Given the description of an element on the screen output the (x, y) to click on. 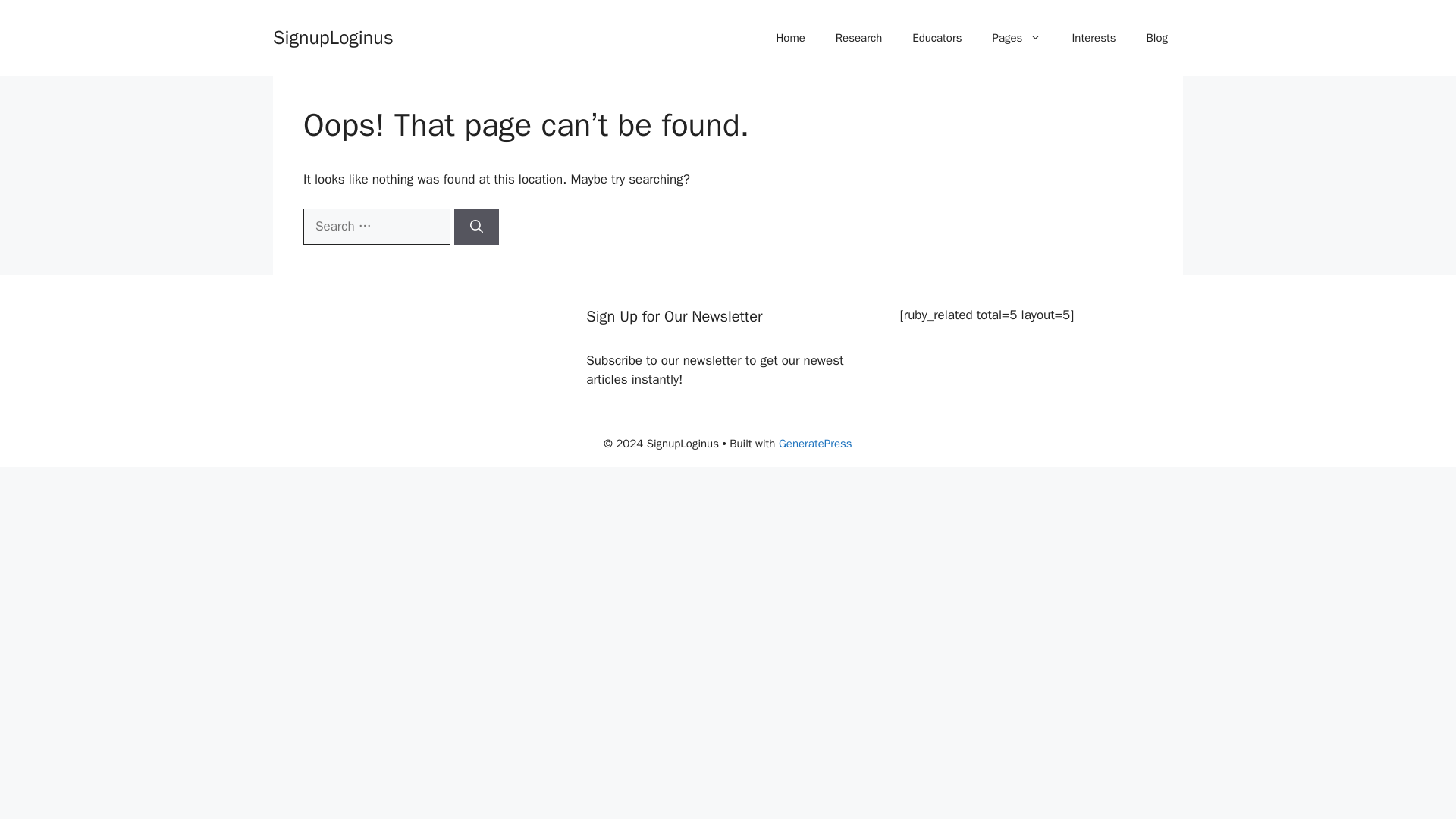
GeneratePress (814, 443)
Research (858, 37)
Home (789, 37)
Search for: (375, 226)
Pages (1016, 37)
Interests (1094, 37)
Blog (1156, 37)
SignupLoginus (333, 37)
Educators (936, 37)
